Given the description of an element on the screen output the (x, y) to click on. 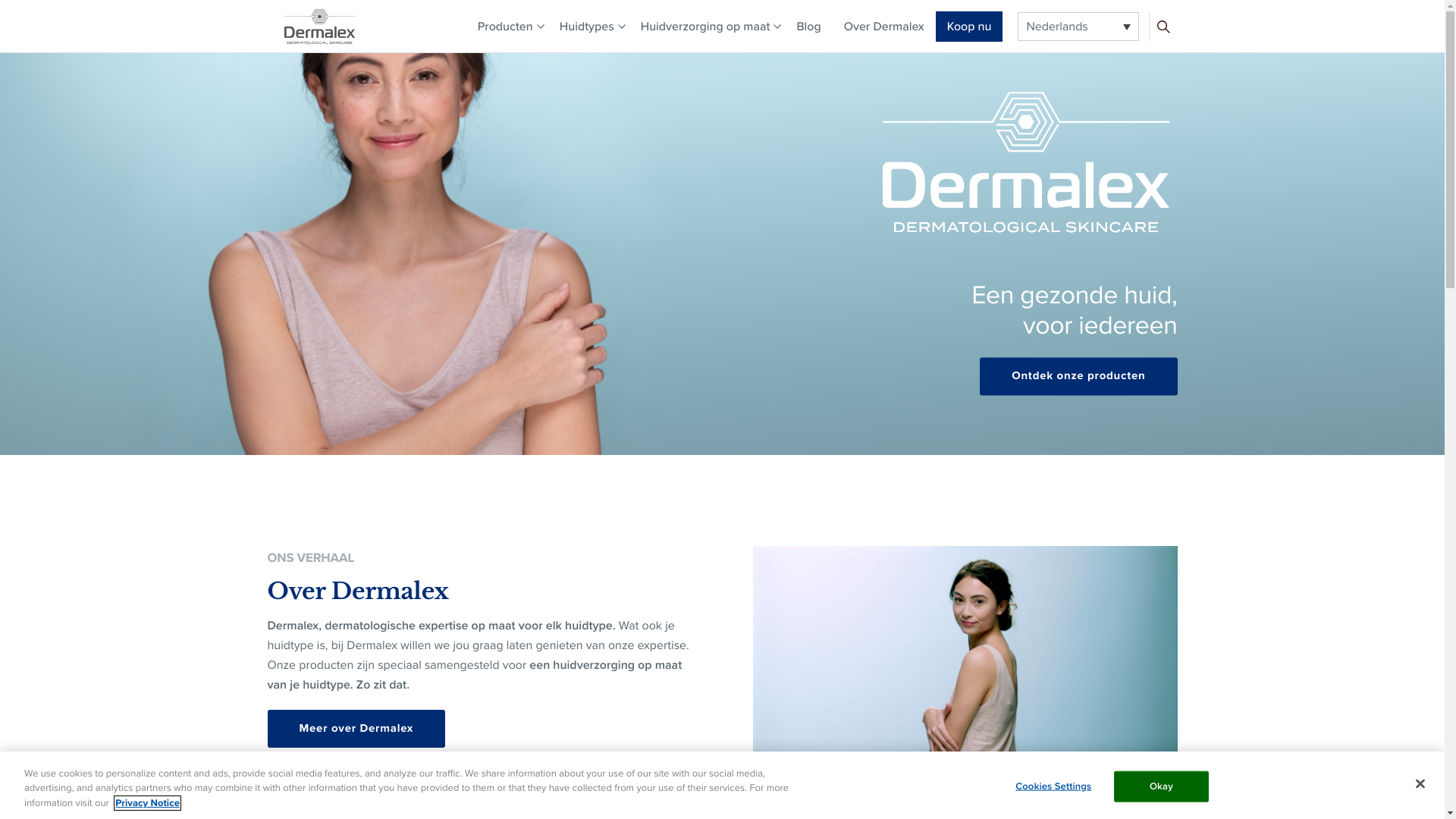
Ontdek onze producten Element type: text (1077, 376)
Koop nu Element type: text (969, 25)
Producten Element type: text (505, 26)
Meer over Dermalex Element type: text (355, 728)
Cookies Settings Element type: text (1053, 786)
Blog Element type: text (808, 26)
Over Dermalex Element type: text (884, 26)
Huidverzorging op maat Element type: text (705, 26)
Privacy Notice Element type: text (147, 803)
Huidtypes Element type: text (586, 26)
Nederlands Element type: text (1078, 26)
Okay Element type: text (1160, 786)
